Given the description of an element on the screen output the (x, y) to click on. 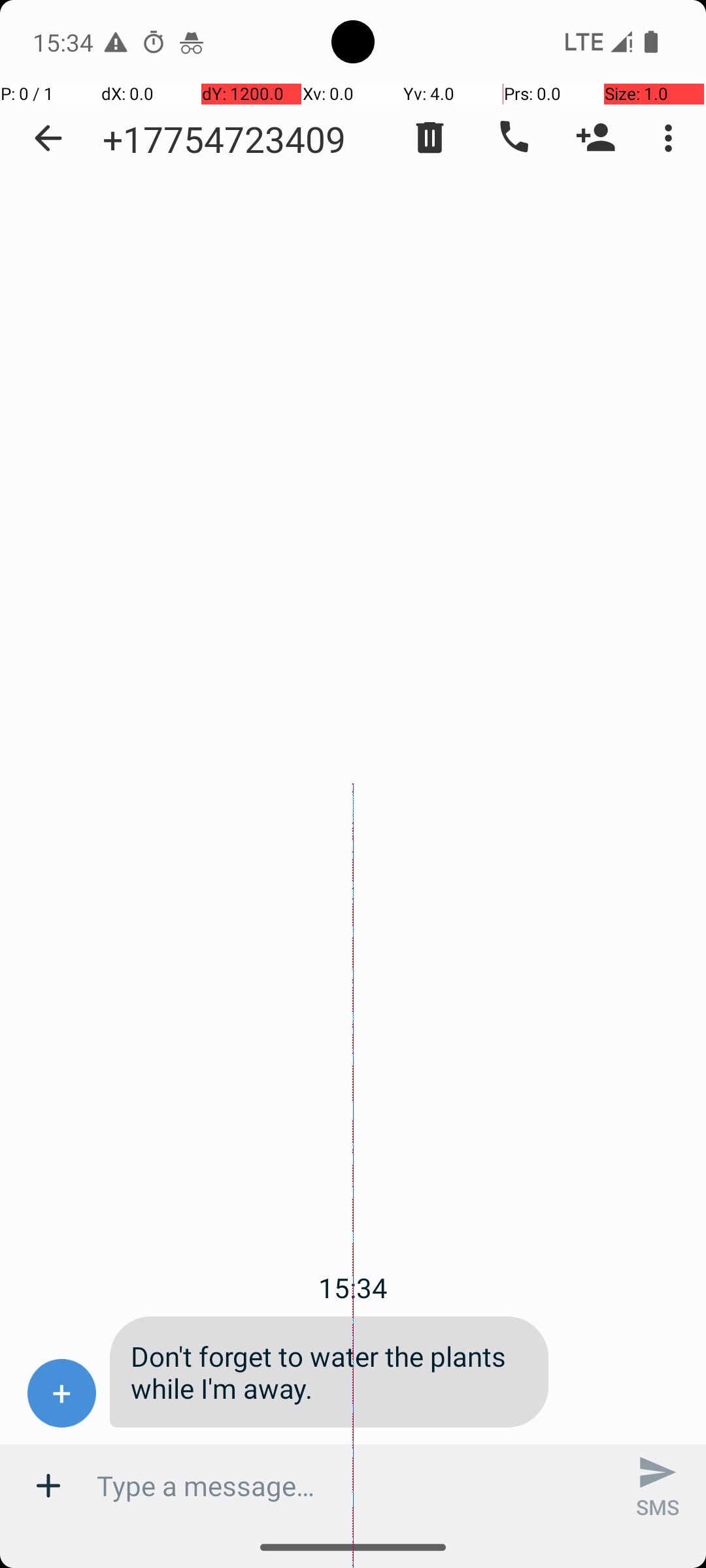
+17754723409 Element type: android.widget.TextView (223, 138)
Dial number Element type: android.widget.Button (512, 137)
Add Person Element type: android.widget.Button (595, 137)
Attachment Element type: android.widget.ImageView (48, 1485)
Type a message… Element type: android.widget.EditText (352, 1485)
SMS Element type: android.widget.Button (657, 1485)
Don't forget to water the plants while I'm away. Element type: android.widget.TextView (328, 1371)
